Given the description of an element on the screen output the (x, y) to click on. 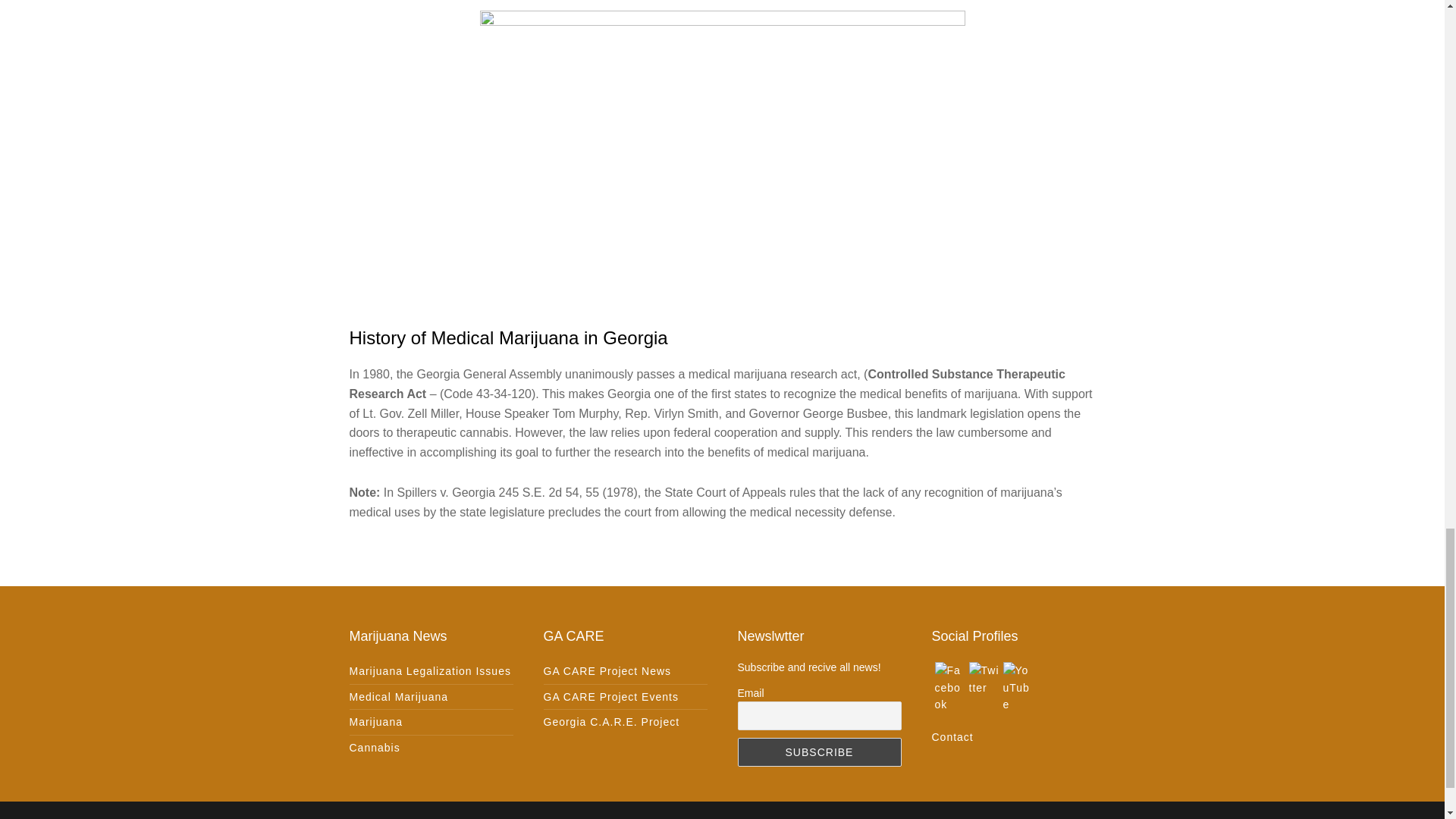
GA CARE Project News (607, 671)
Georgia C.A.R.E. Project (611, 721)
Medical Marijuana (398, 696)
Cannabis (373, 747)
Subscribe (818, 751)
Subscribe (818, 751)
Marijuana Legalization Issues (430, 671)
Contact (951, 736)
GA CARE Project Events (610, 696)
Marijuana (375, 721)
